Given the description of an element on the screen output the (x, y) to click on. 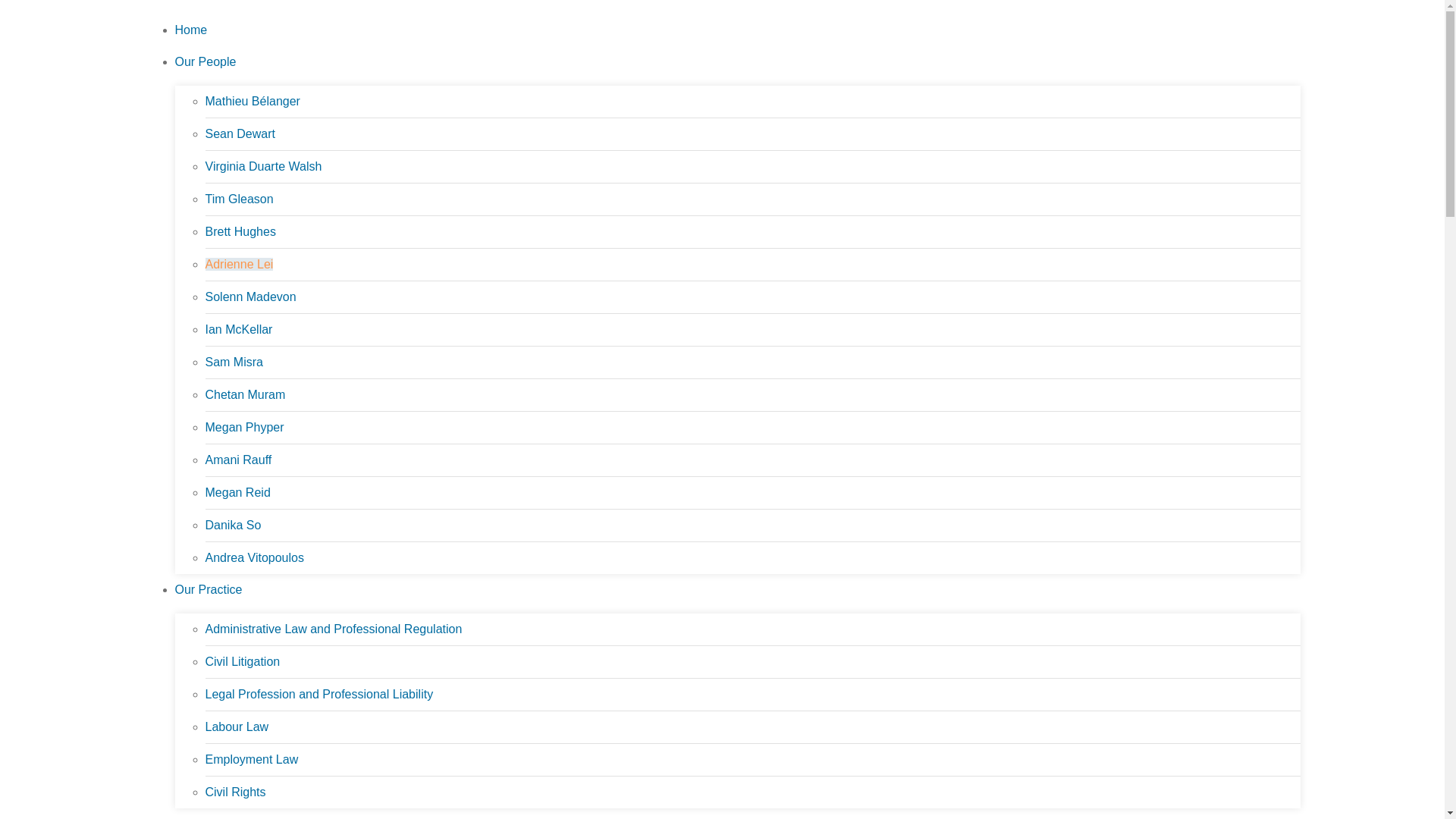
Our People (204, 61)
Adrienne Lei (239, 264)
Civil Rights (234, 791)
Labour Law (236, 726)
Our Practice (207, 589)
Legal Profession and Professional Liability (318, 694)
Sean Dewart (240, 133)
Our Work (199, 818)
Andrea Vitopoulos (253, 557)
Chetan Muram (245, 394)
